Given the description of an element on the screen output the (x, y) to click on. 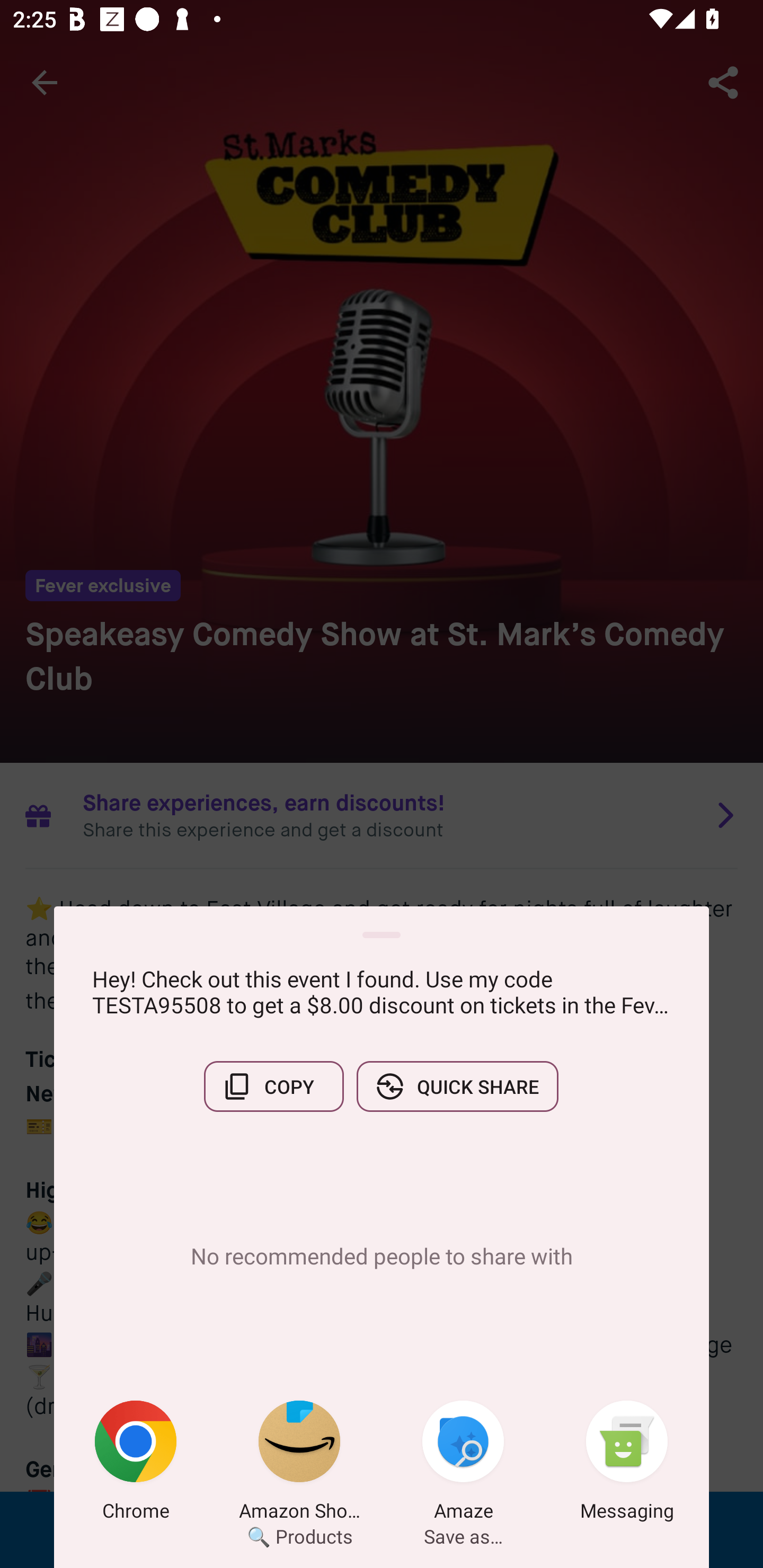
COPY (273, 1086)
QUICK SHARE (457, 1086)
Chrome (135, 1463)
Amazon Shopping 🔍 Products (299, 1463)
Amaze Save as… (463, 1463)
Messaging (626, 1463)
